Given the description of an element on the screen output the (x, y) to click on. 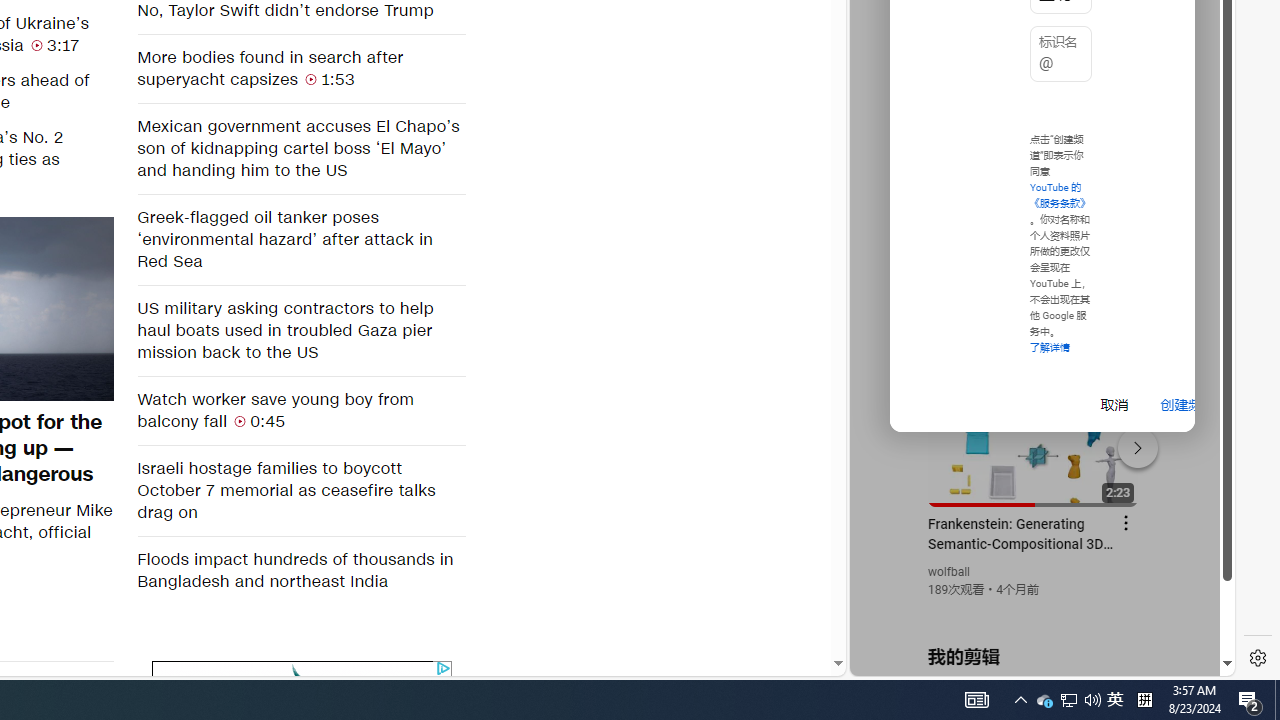
More bodies found in search after superyacht capsizes 1:53 (300, 68)
Watch worker save young boy from balcony fall 0:45 (300, 410)
